Given the description of an element on the screen output the (x, y) to click on. 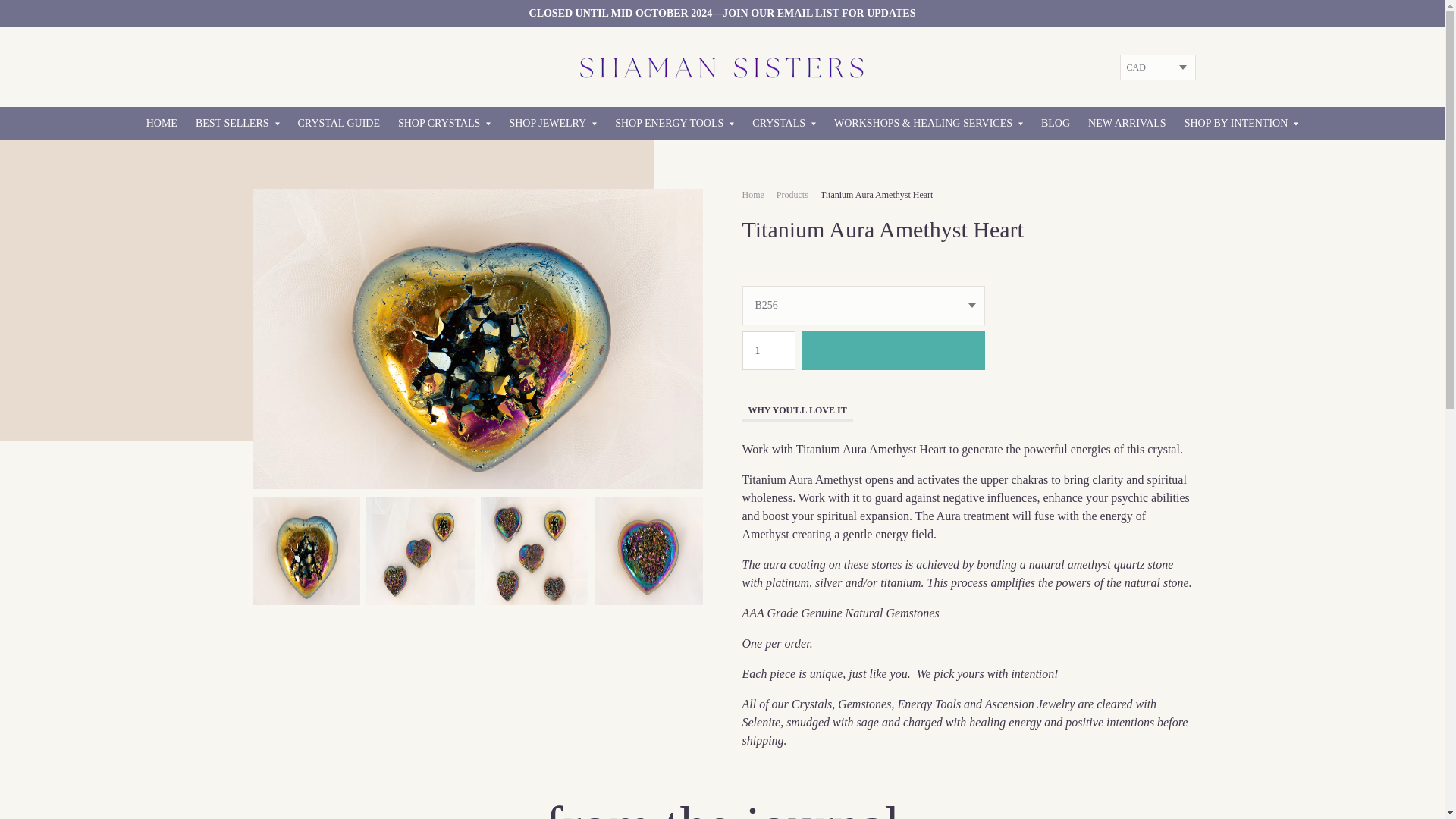
Products (792, 194)
Search (16, 9)
Shaman Sisters (751, 194)
1 (767, 350)
